Given the description of an element on the screen output the (x, y) to click on. 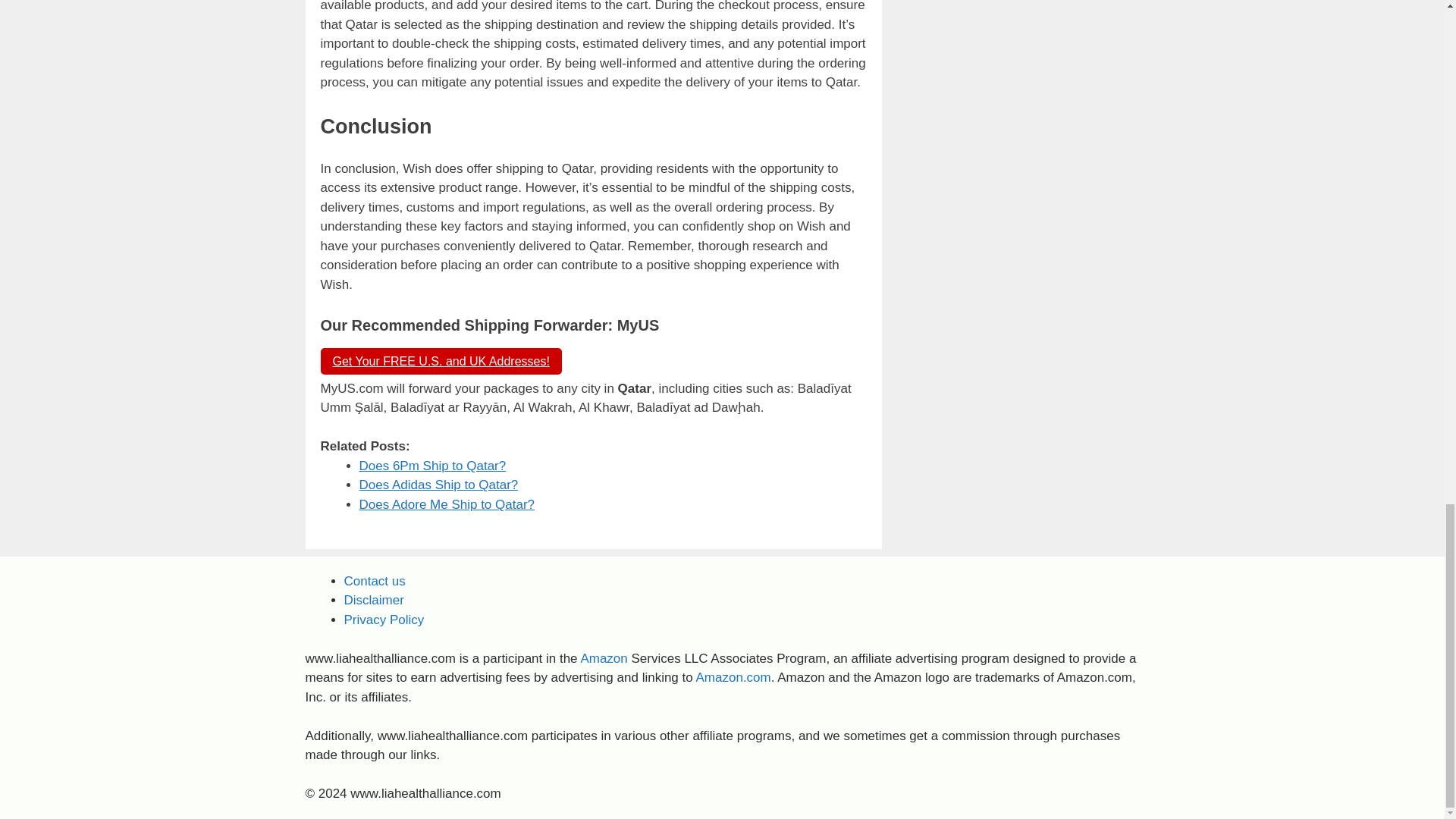
Disclaimer (373, 599)
Amazon (603, 658)
Get Your FREE U.S. and UK Addresses! (440, 361)
Does Adore Me Ship to Qatar? (447, 504)
Does 6Pm Ship to Qatar? (432, 465)
Does Adidas Ship to Qatar? (438, 484)
Contact us (374, 581)
Privacy Policy (384, 619)
Amazon.com (733, 677)
